Given the description of an element on the screen output the (x, y) to click on. 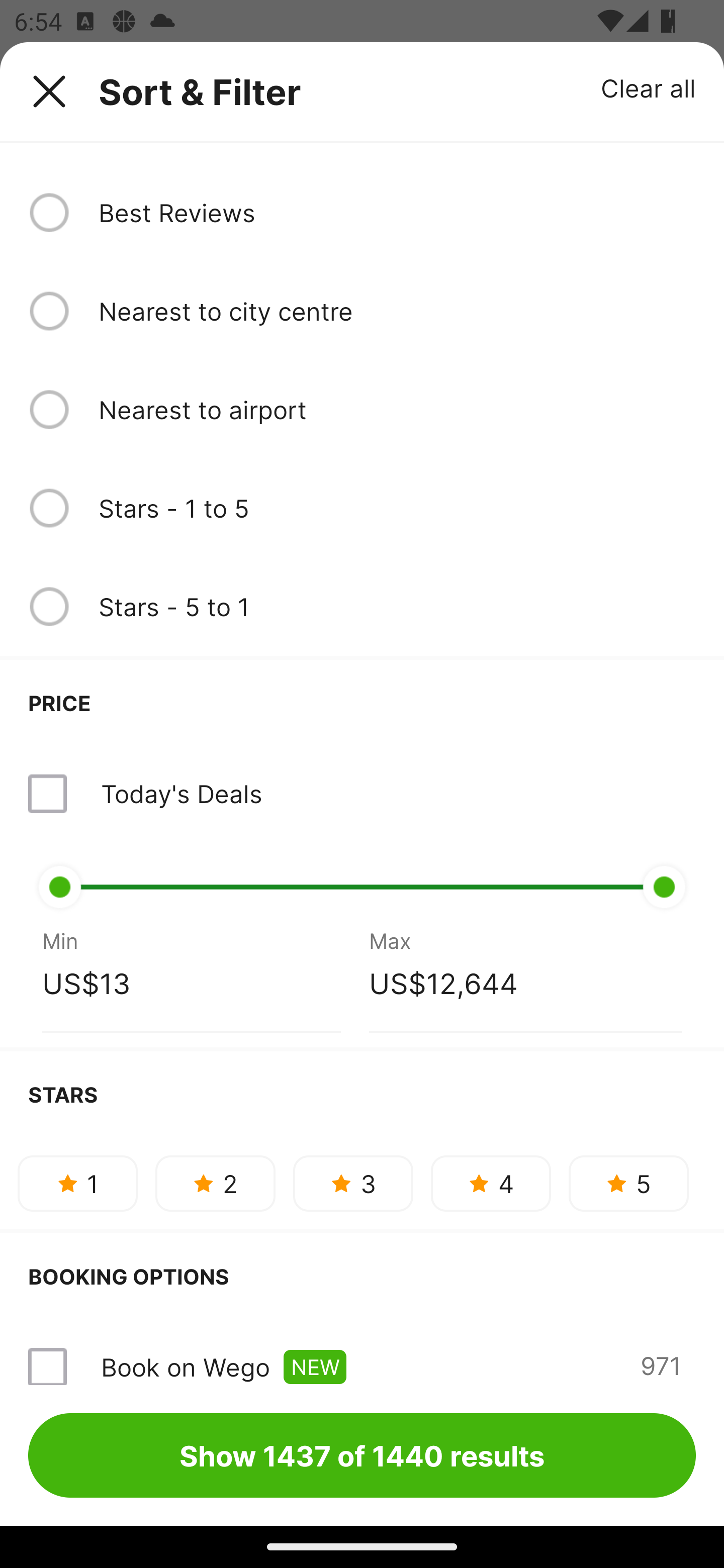
Clear all (648, 87)
Best Reviews (396, 212)
Nearest to city centre (396, 311)
Nearest to airport (396, 409)
Stars - 1 to 5 (396, 507)
Stars - 5 to 1 (396, 606)
Today's Deals (362, 794)
Today's Deals (181, 793)
1 (77, 1183)
2 (214, 1183)
3 (352, 1183)
4 (491, 1183)
5 (627, 1183)
Book on Wego NEW 971 (362, 1352)
Book on Wego (184, 1367)
Show 1437 of 1440 results (361, 1454)
